Given the description of an element on the screen output the (x, y) to click on. 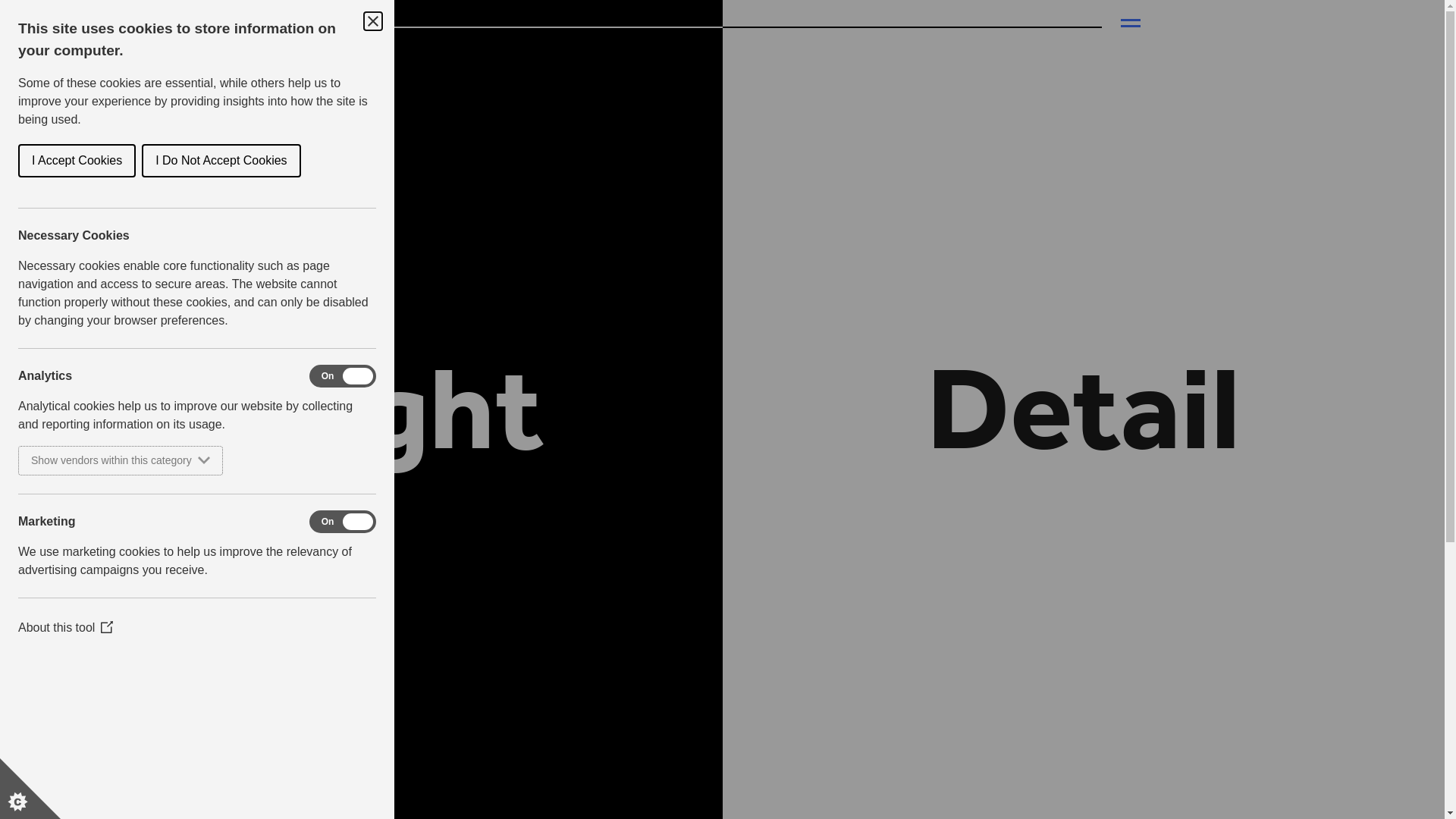
About this tool
(Opens in a new window) Element type: text (65, 627)
Show vendors within this category Element type: text (120, 460)
I Do Not Accept Cookies Element type: text (220, 160)
Menu Element type: text (1130, 23)
I Accept Cookies Element type: text (76, 160)
